Given the description of an element on the screen output the (x, y) to click on. 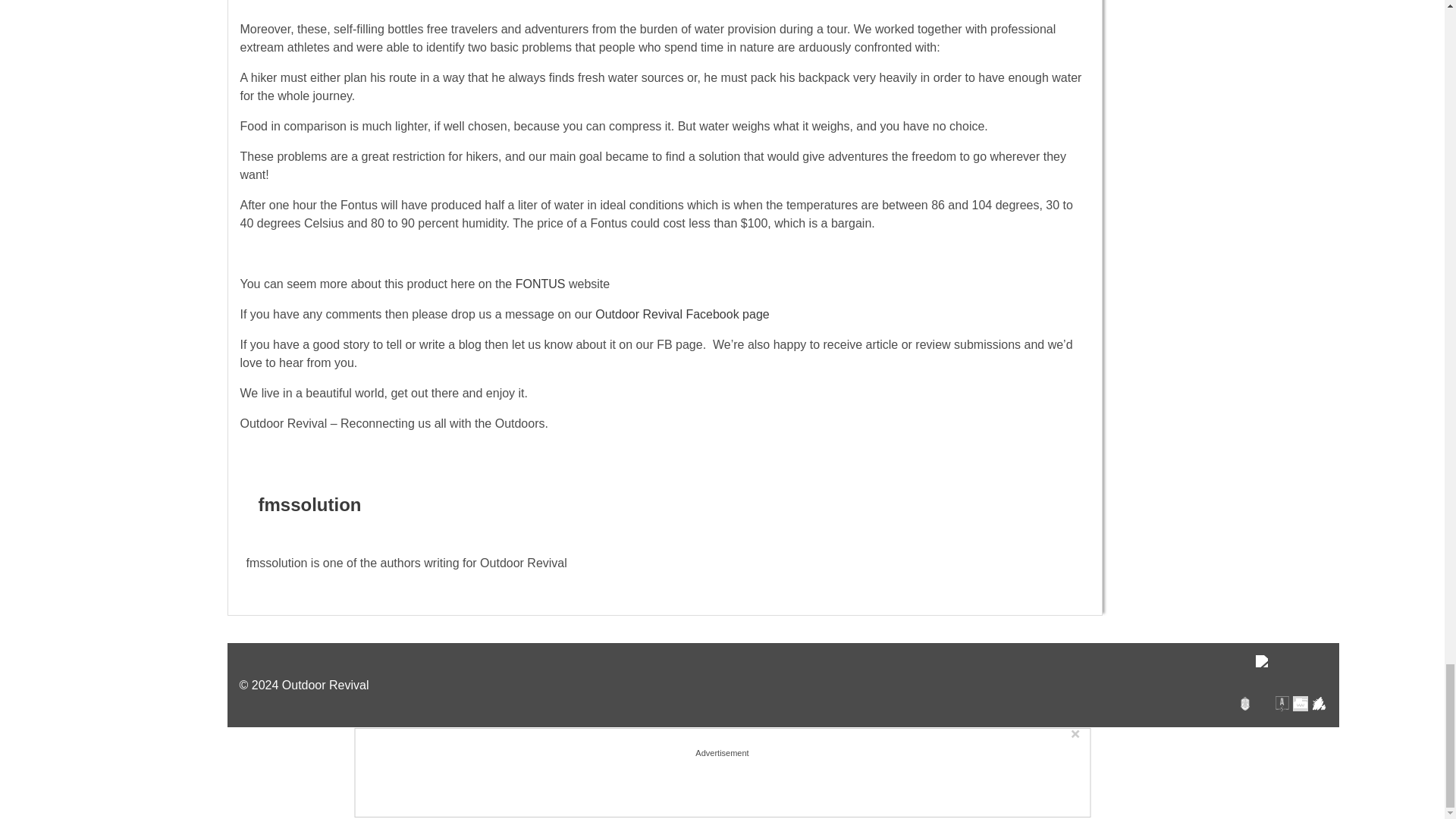
FONTUS (540, 283)
Outdoor Revival Facebook page (681, 314)
fmssolution (309, 505)
